Given the description of an element on the screen output the (x, y) to click on. 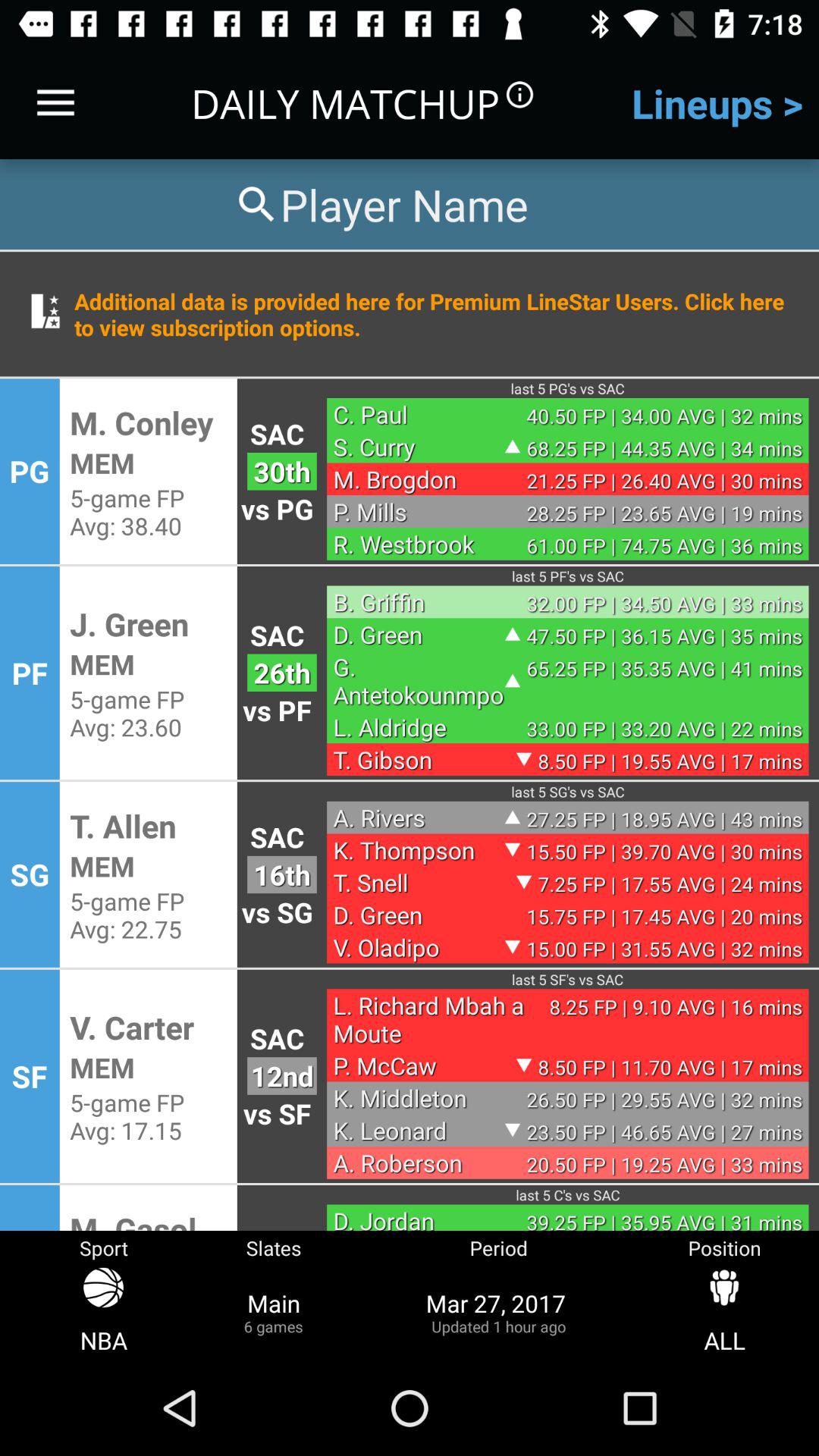
tap r. westbrook icon (418, 543)
